Given the description of an element on the screen output the (x, y) to click on. 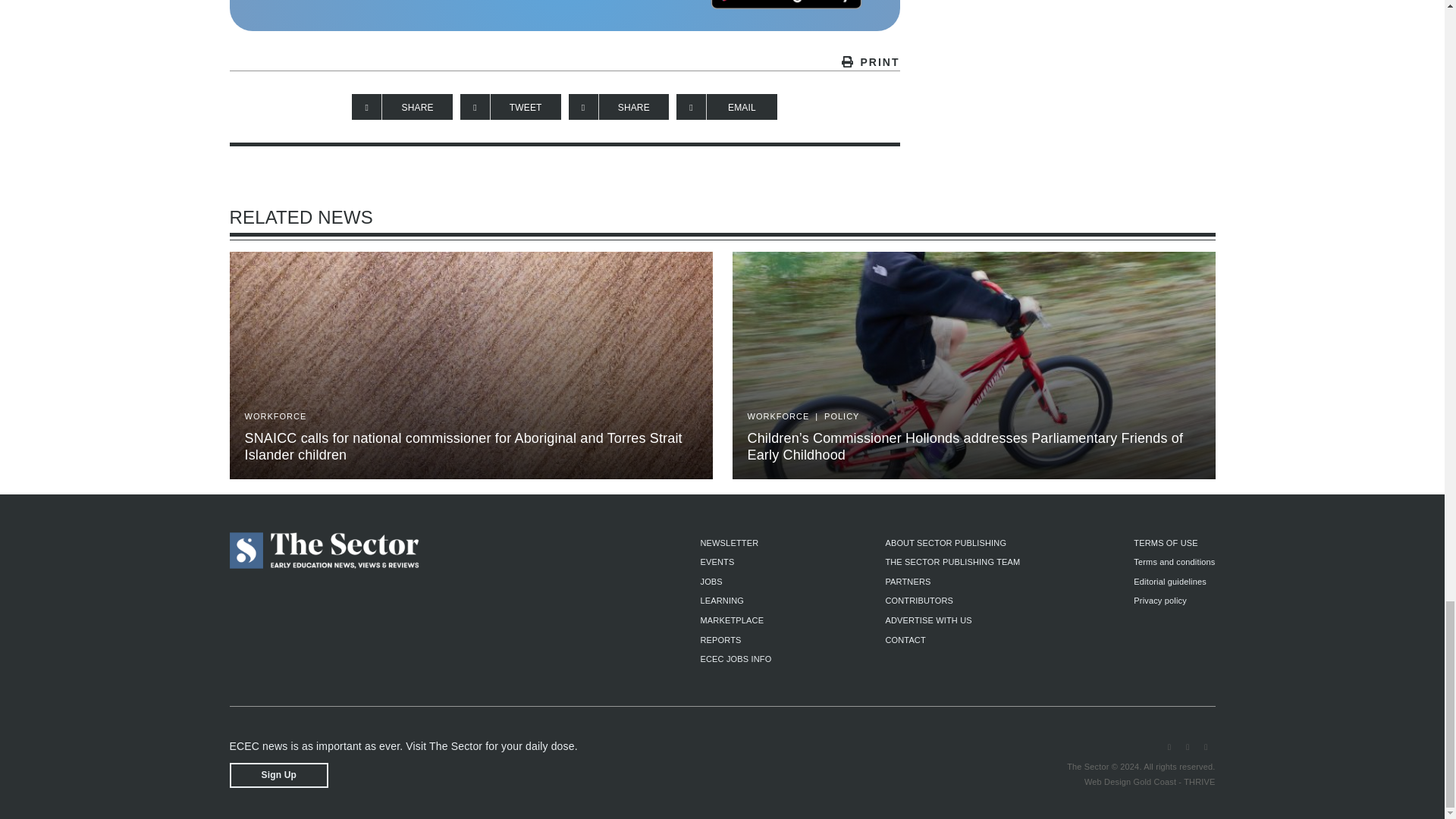
Share on Email (727, 106)
PRINT (563, 62)
Tweet (510, 106)
SHARE (402, 106)
Share on Facebook (402, 106)
Web Design Gold Coast (1130, 781)
TWEET (510, 106)
Share on LinkedIn (619, 106)
